Given the description of an element on the screen output the (x, y) to click on. 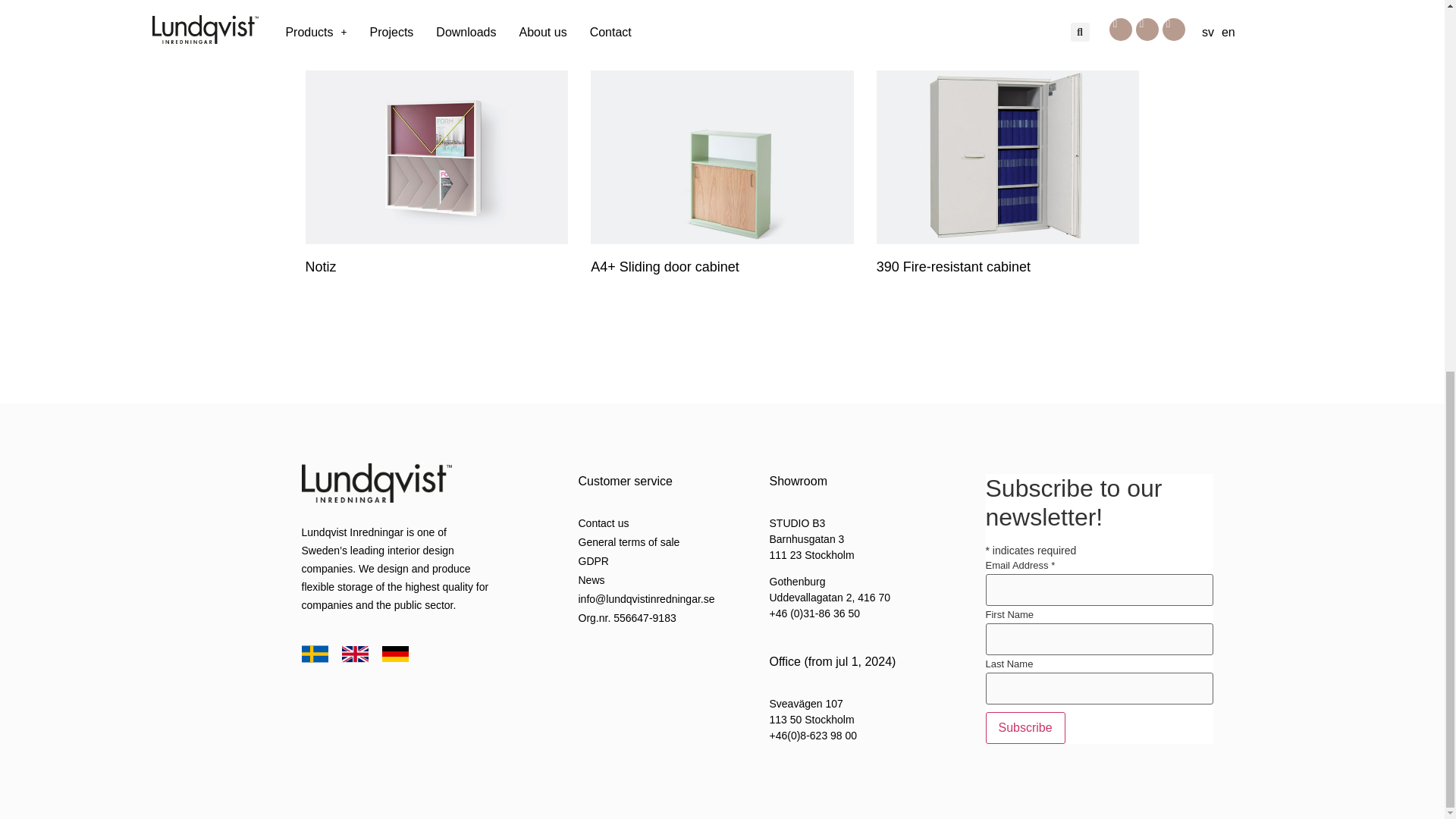
Subscribe (1025, 727)
